Given the description of an element on the screen output the (x, y) to click on. 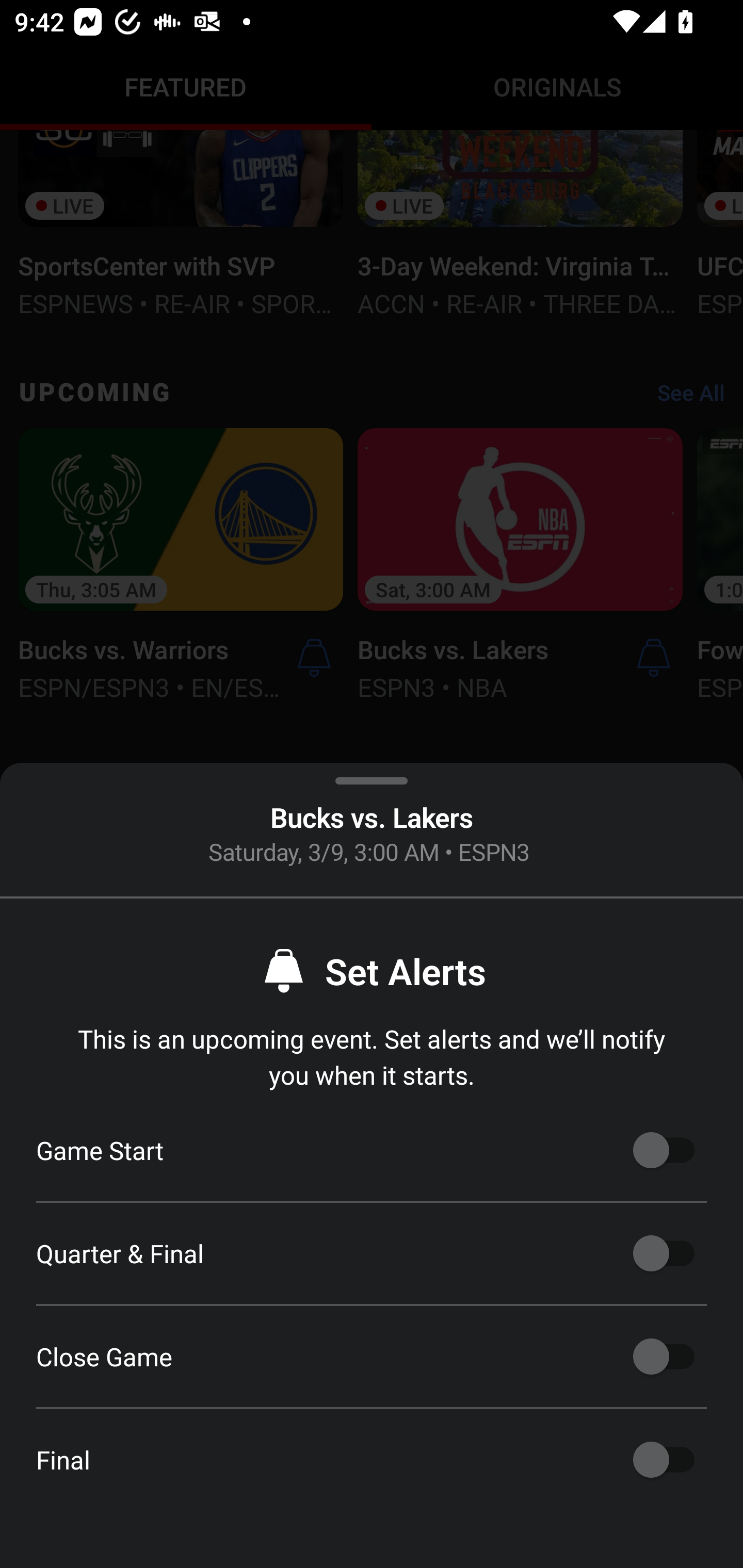
Game Start (663, 1150)
Quarter & Final (663, 1253)
Close Game (663, 1356)
Final (663, 1459)
